Given the description of an element on the screen output the (x, y) to click on. 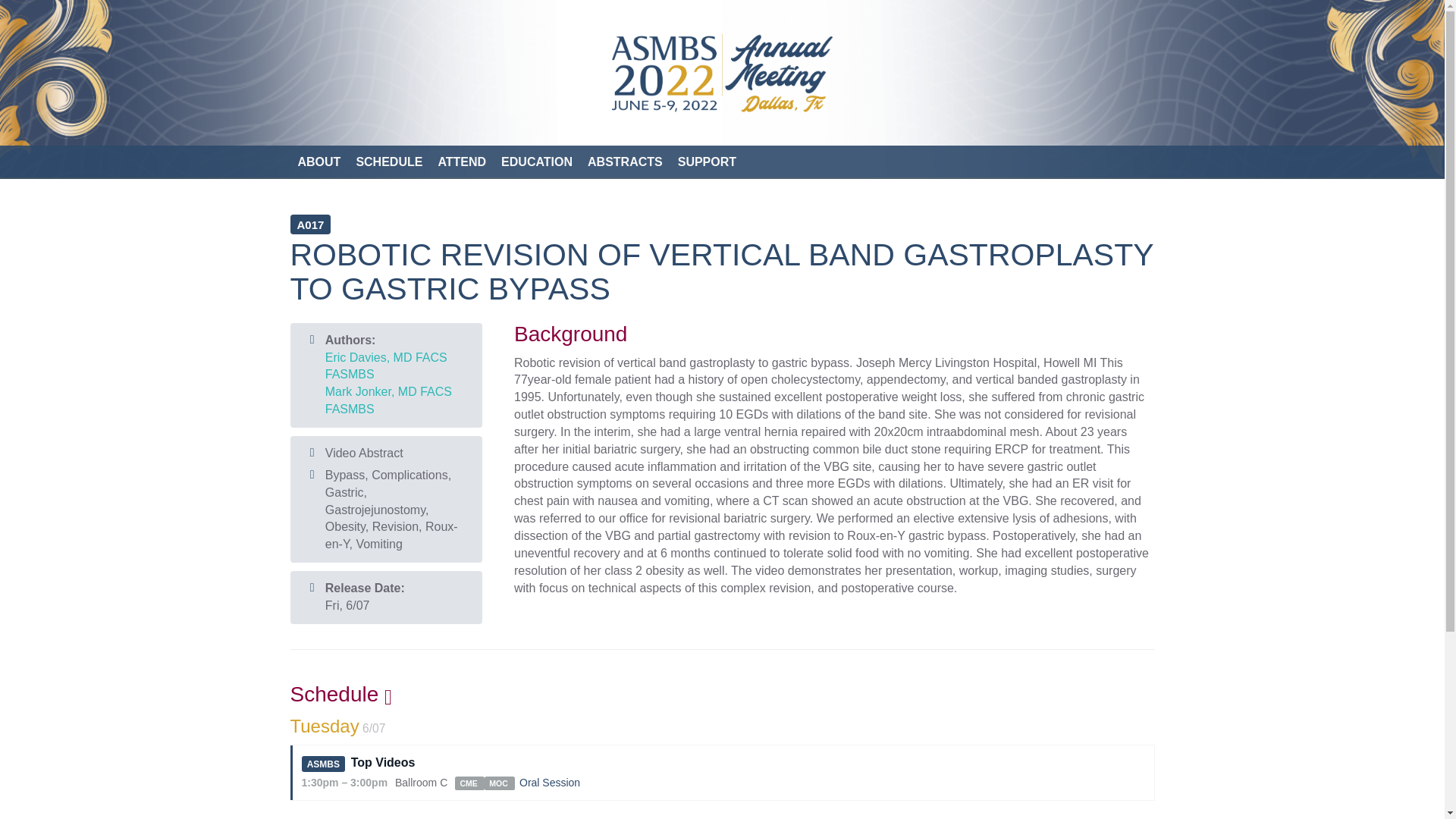
Eric Davies, MD FACS FASMBS (385, 366)
ABSTRACTS (624, 161)
ATTEND (461, 161)
EDUCATION (536, 161)
SCHEDULE (388, 161)
ABOUT (318, 161)
SUPPORT (706, 161)
Mark Jonker, MD FACS FASMBS (387, 399)
